Given the description of an element on the screen output the (x, y) to click on. 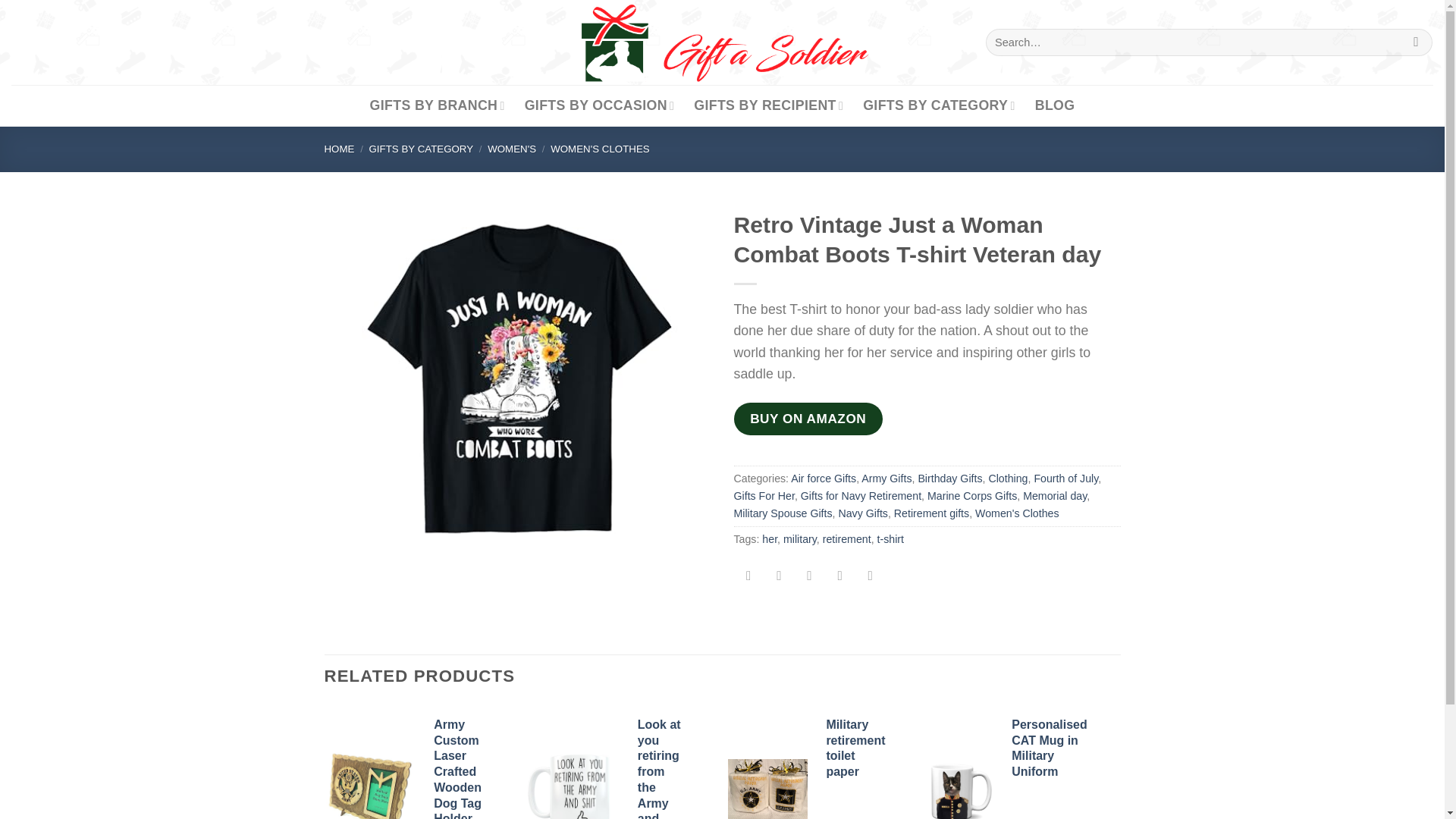
Gift a Soldier - Gift Guide for Military community (721, 42)
Military retirement toilet paper (768, 789)
GIFTS BY OCCASION (599, 105)
GIFTS BY BRANCH (437, 105)
GIFTS BY RECIPIENT (768, 105)
Look at you retiring from the Army and shit - Mug (572, 782)
Army Custom Laser Crafted Wooden Dog Tag Holder Plaque (368, 784)
Search (1415, 41)
